Given the description of an element on the screen output the (x, y) to click on. 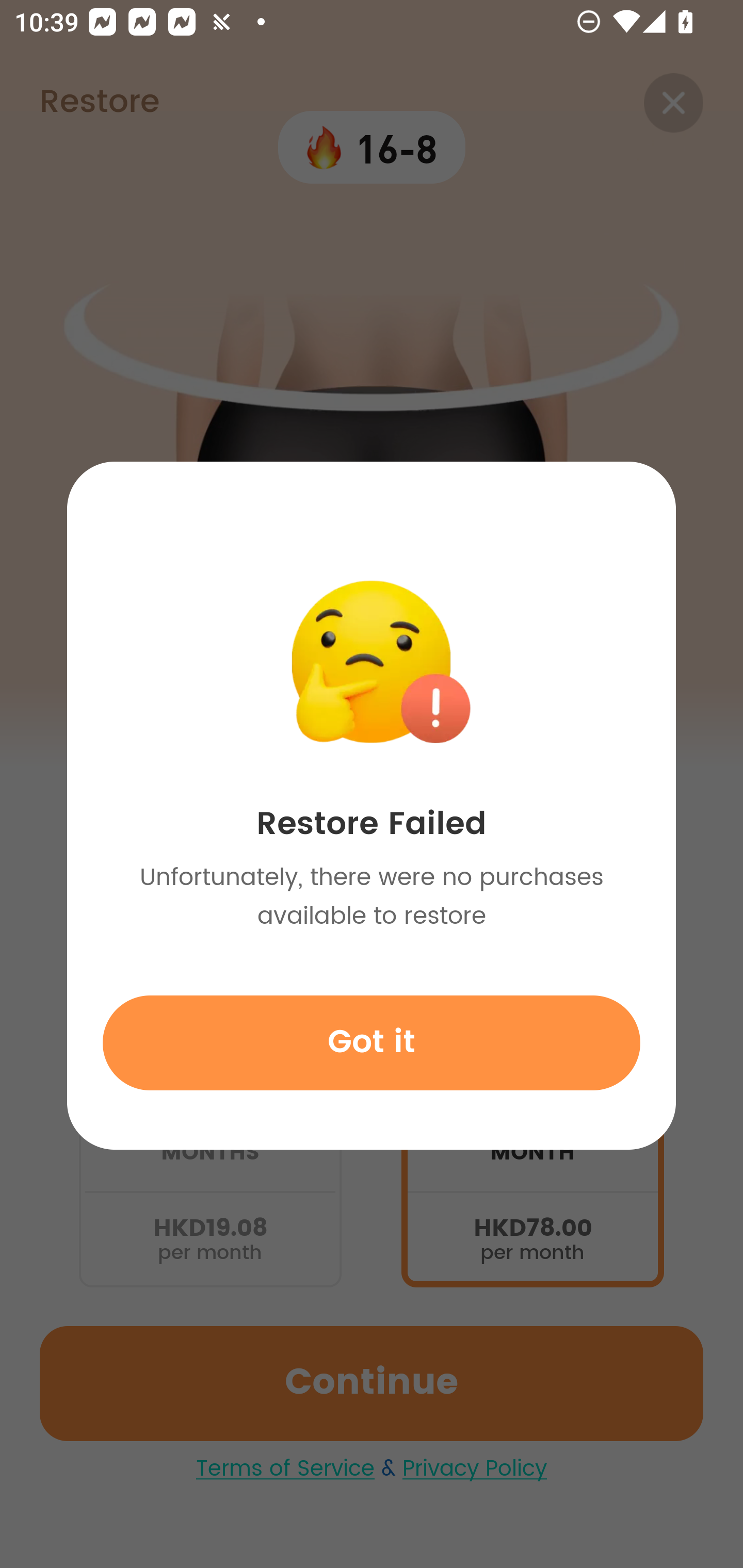
Got it (371, 1042)
